Given the description of an element on the screen output the (x, y) to click on. 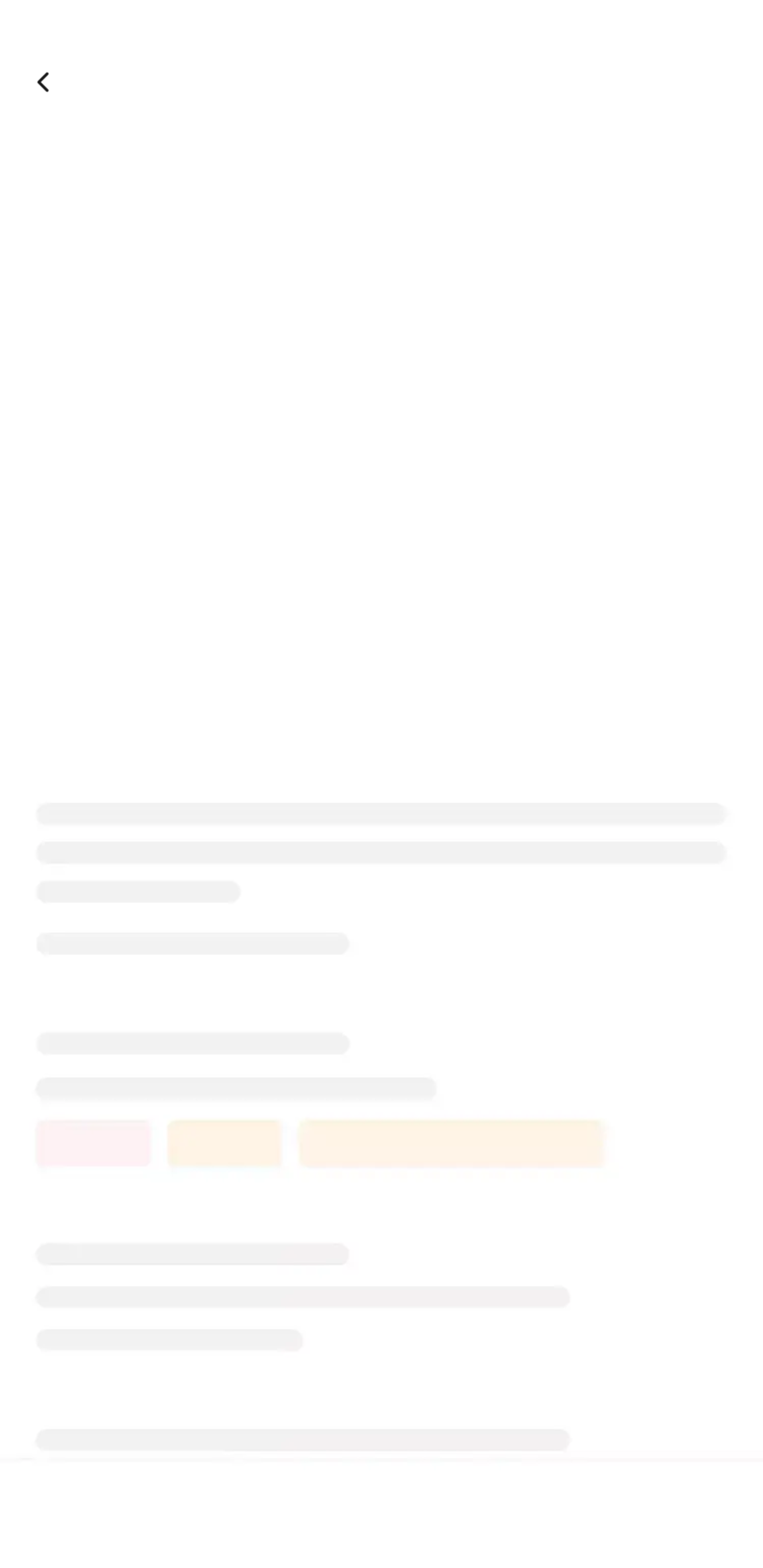
Navigate up (44, 82)
